Given the description of an element on the screen output the (x, y) to click on. 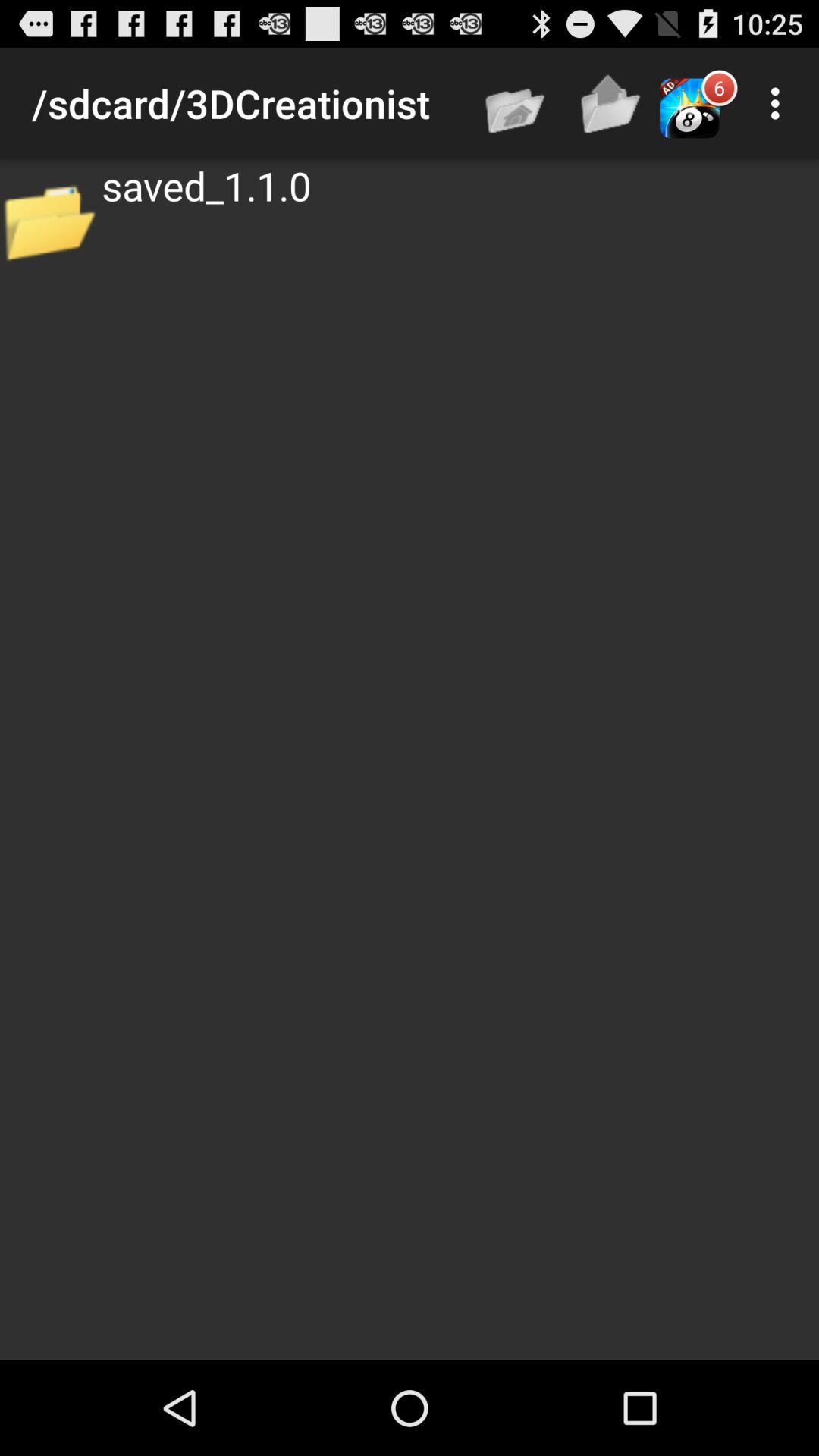
select the icon next to /sdcard/3dcreationist icon (516, 103)
